Given the description of an element on the screen output the (x, y) to click on. 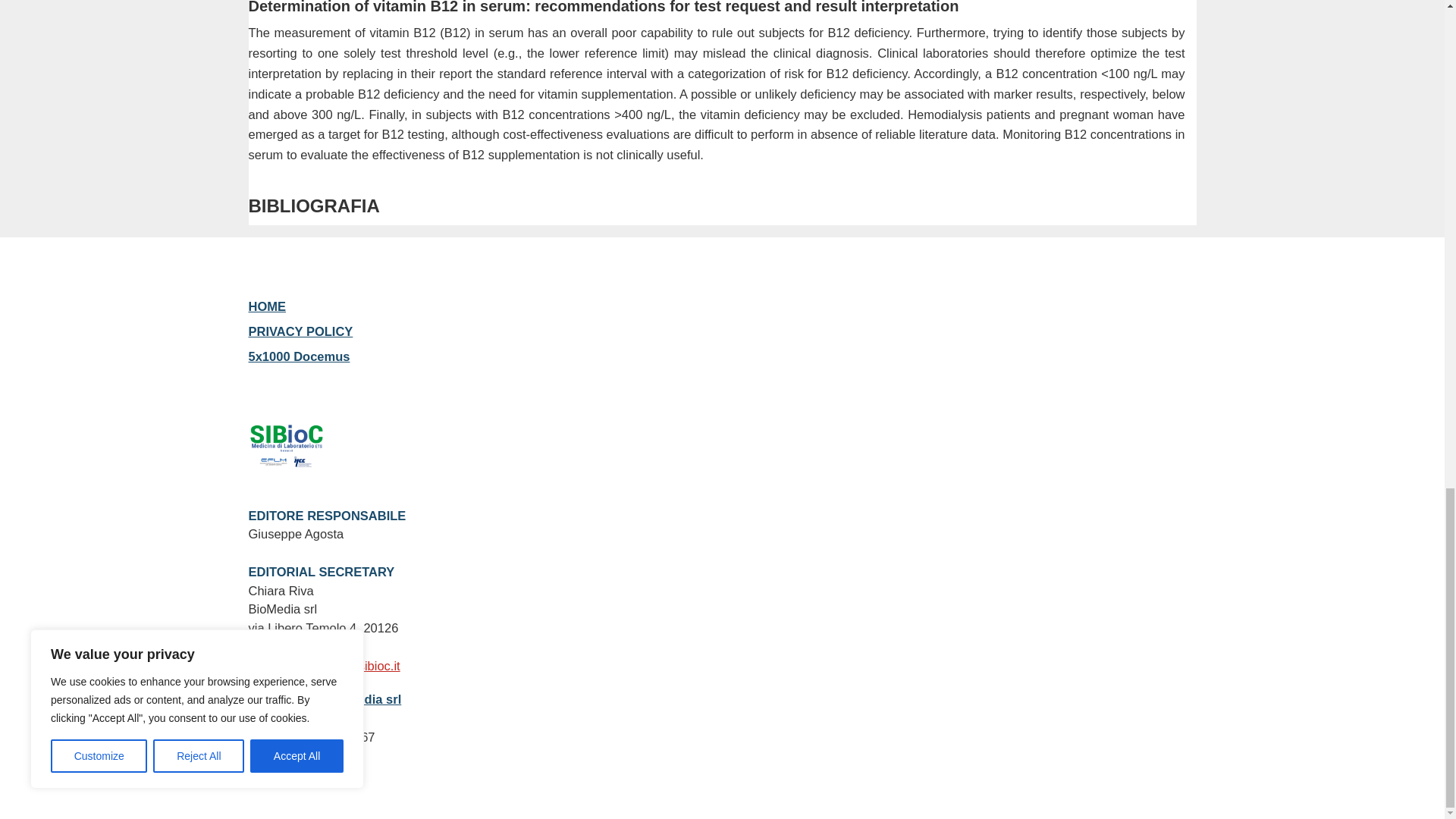
Designed by Biomedia srl (324, 698)
PRIVACY POLICY (300, 331)
5x1000 Docemus (299, 356)
HOME (267, 305)
